Given the description of an element on the screen output the (x, y) to click on. 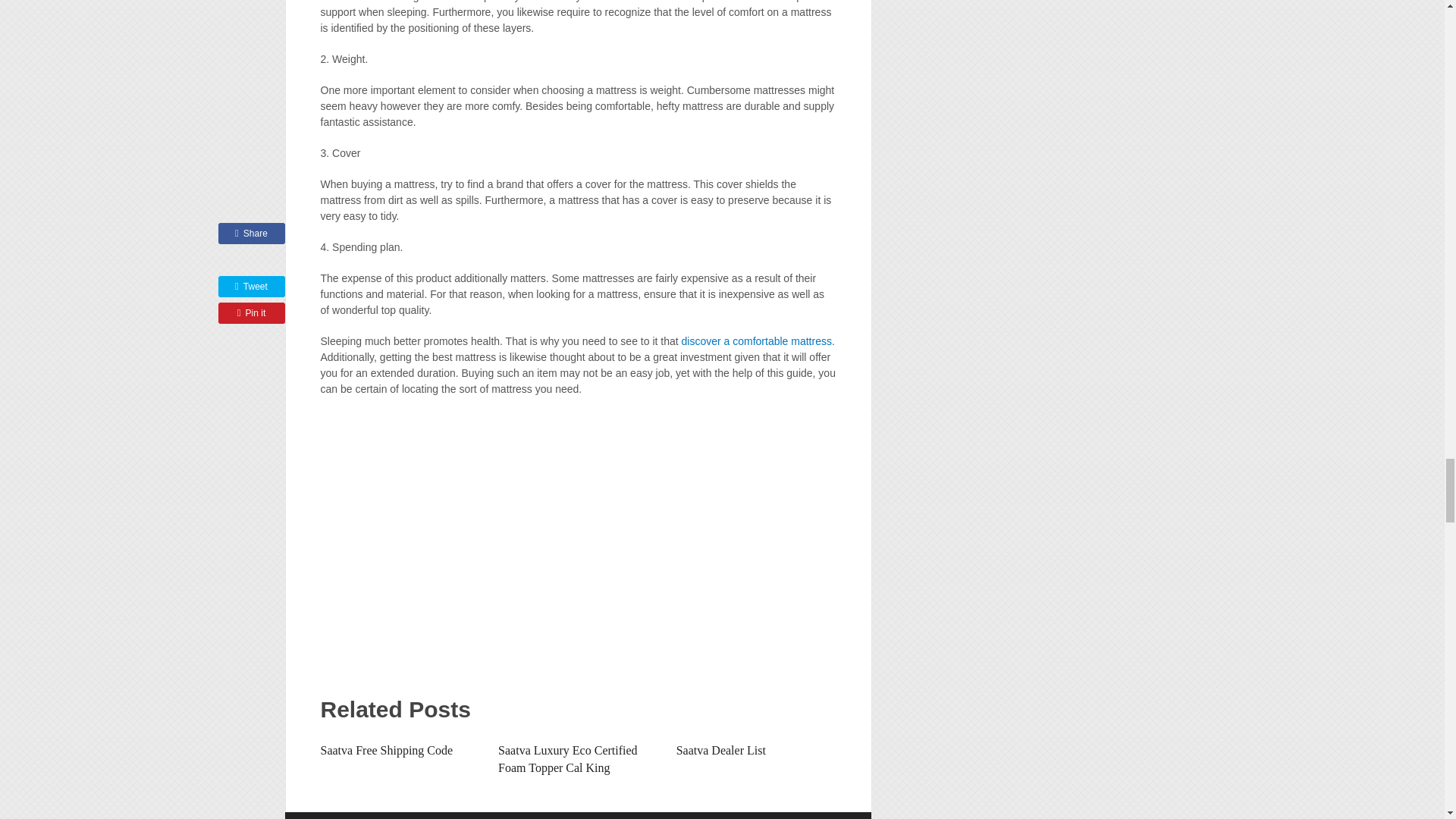
Saatva Free Shipping Code (386, 749)
Saatva Dealer List (721, 749)
Saatva Luxury Eco Certified Foam Topper Cal King (567, 758)
Saatva Luxury Eco Certified Foam Topper Cal King (567, 758)
discover a comfortable mattress. (757, 340)
Saatva Free Shipping Code (386, 749)
Saatva Dealer List (721, 749)
